Given the description of an element on the screen output the (x, y) to click on. 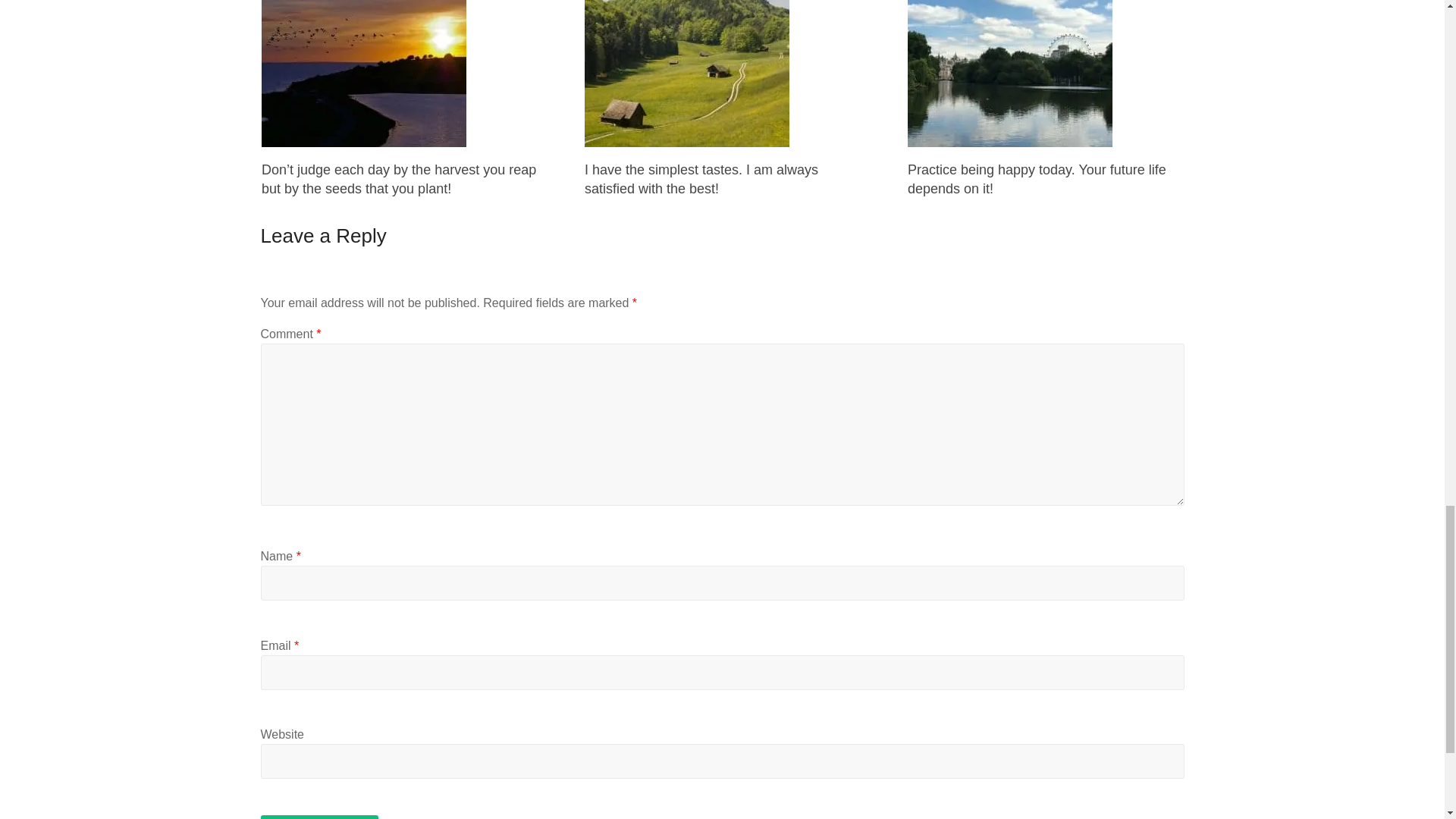
Post Comment (319, 816)
